Given the description of an element on the screen output the (x, y) to click on. 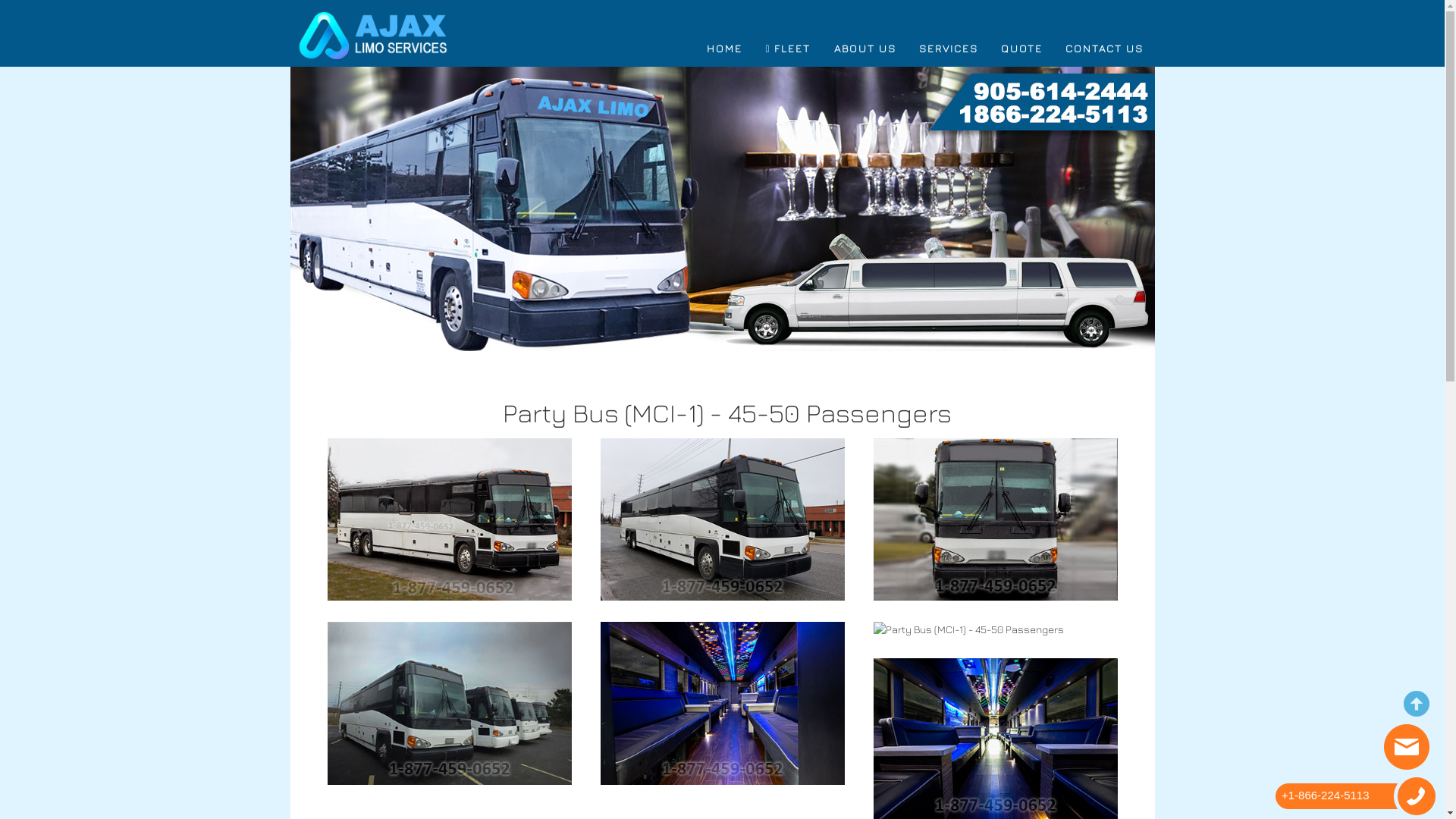
HOME Element type: text (724, 48)
Live chat offline Element type: hover (1406, 746)
QUOTE Element type: text (1021, 48)
CONTACT US Element type: text (1103, 48)
ABOUT US Element type: text (865, 48)
SERVICES Element type: text (948, 48)
